Given the description of an element on the screen output the (x, y) to click on. 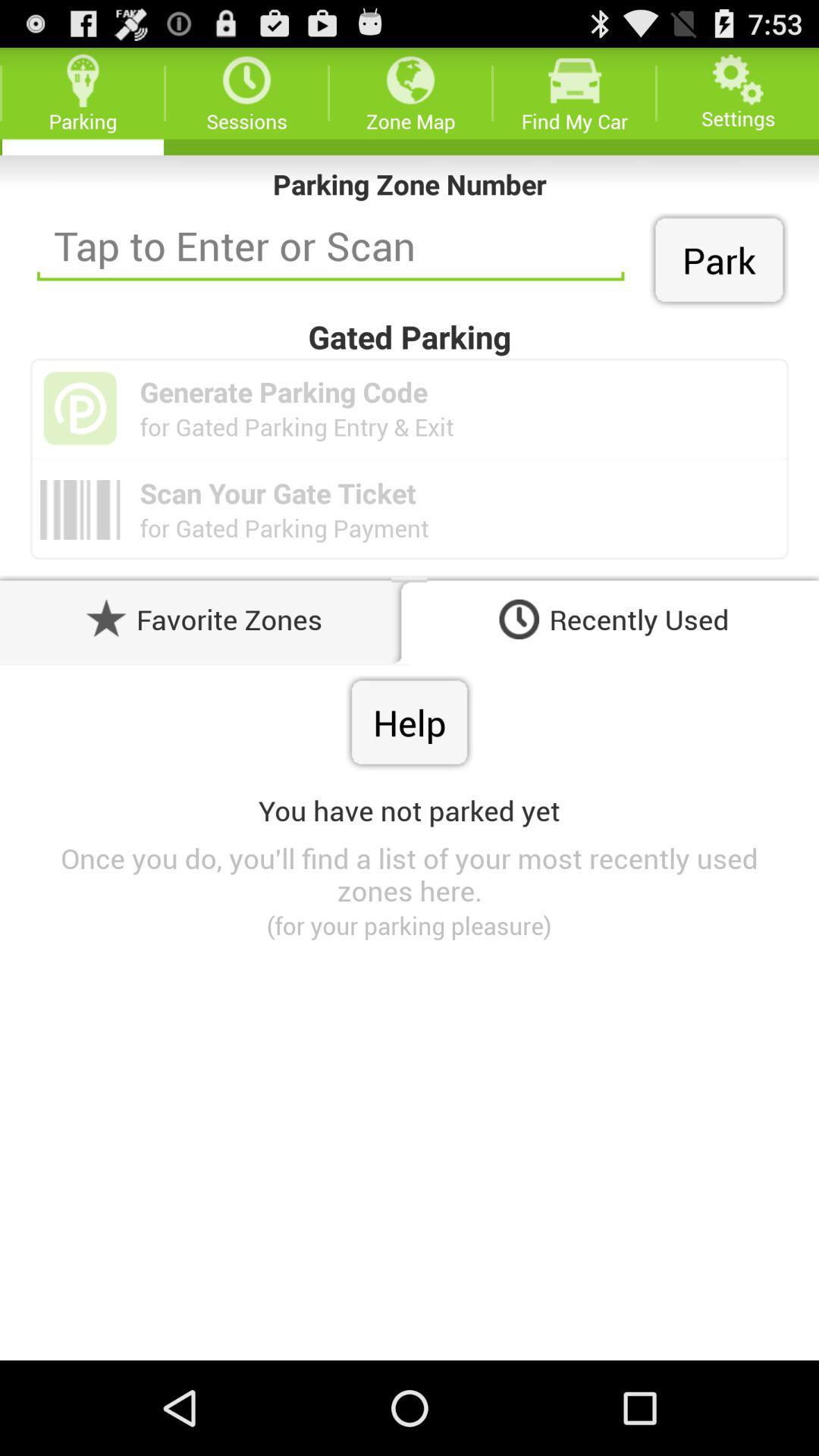
select the symbol which is above zone map (410, 79)
select the symbol which is above find my car (574, 79)
select the field which consists of tap to enter or scan (330, 252)
